Given the description of an element on the screen output the (x, y) to click on. 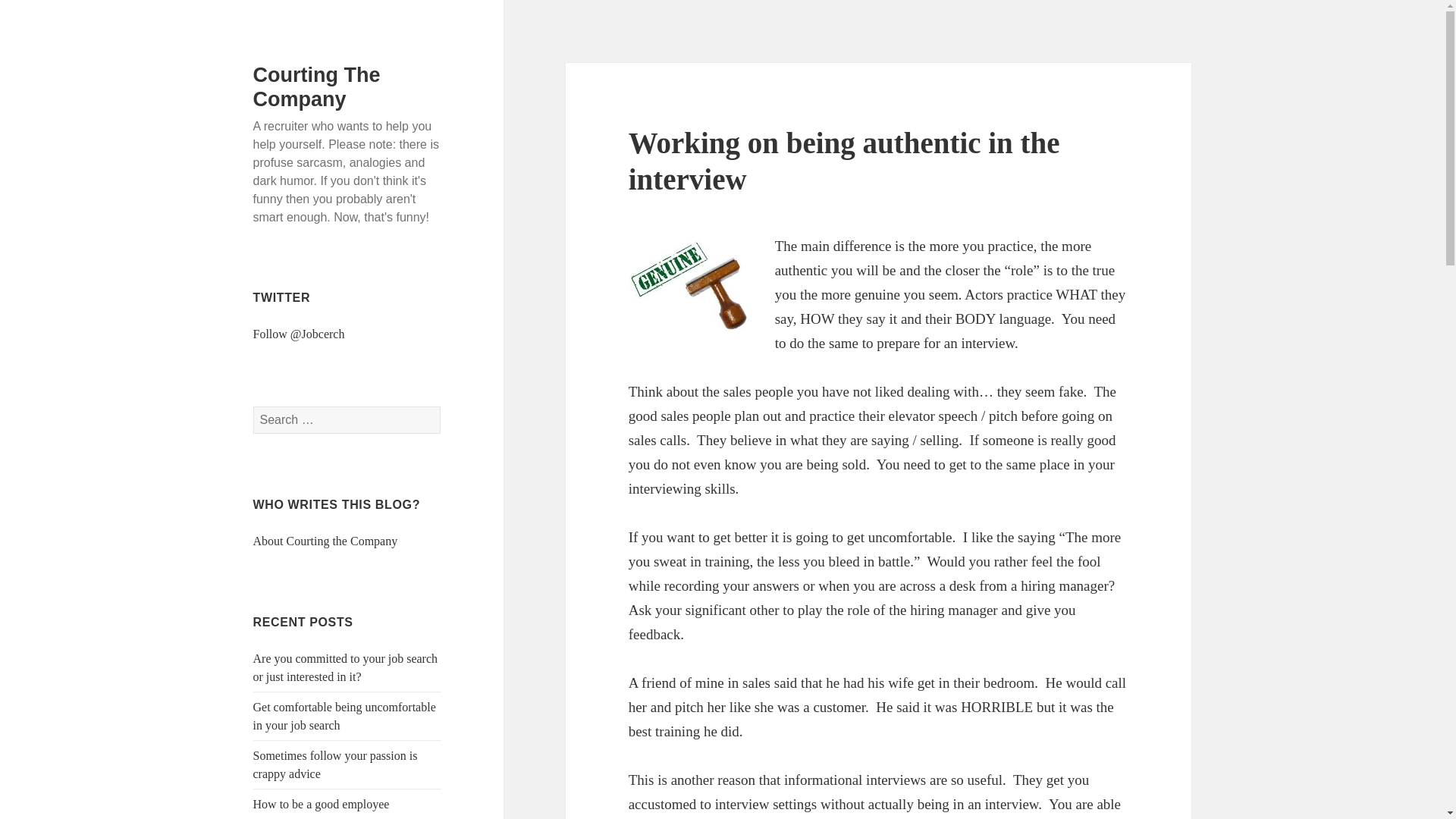
Sometimes follow your passion is crappy advice (335, 764)
About Courting the Company (325, 540)
Courting The Company (316, 86)
How to be a good employee (321, 803)
Get comfortable being uncomfortable in your job search (344, 716)
